Given the description of an element on the screen output the (x, y) to click on. 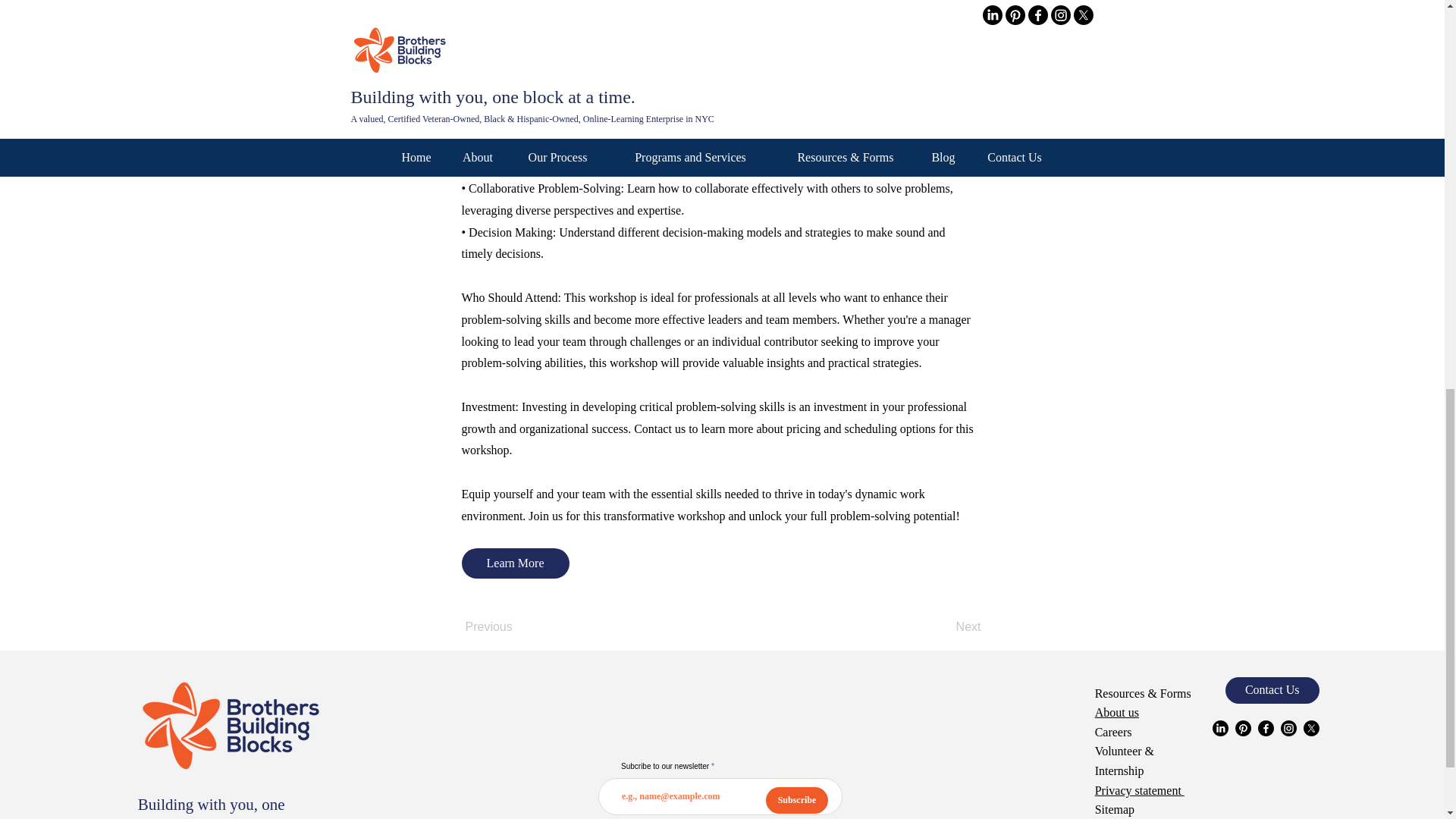
Learn More (515, 562)
About us (1116, 712)
Next (943, 627)
Contact Us (1272, 690)
Privacy statement  (1139, 789)
Previous (515, 627)
Subscribe (796, 800)
